Given the description of an element on the screen output the (x, y) to click on. 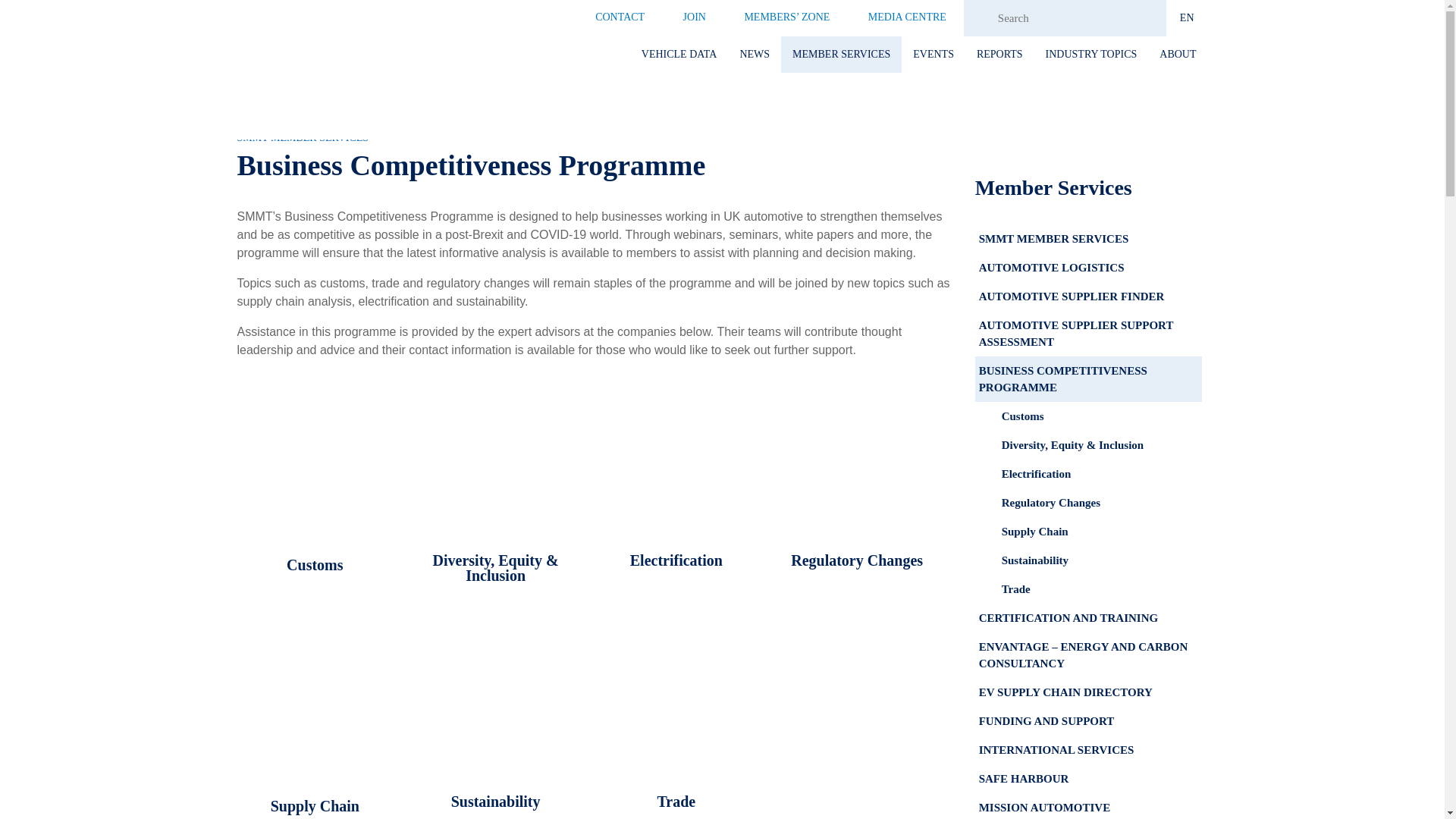
EN (1187, 18)
CONTACT (620, 16)
MEDIA CENTRE (906, 16)
JOIN (694, 16)
NEWS (754, 54)
VEHICLE DATA (679, 54)
MEMBER SERVICES (840, 54)
